Given the description of an element on the screen output the (x, y) to click on. 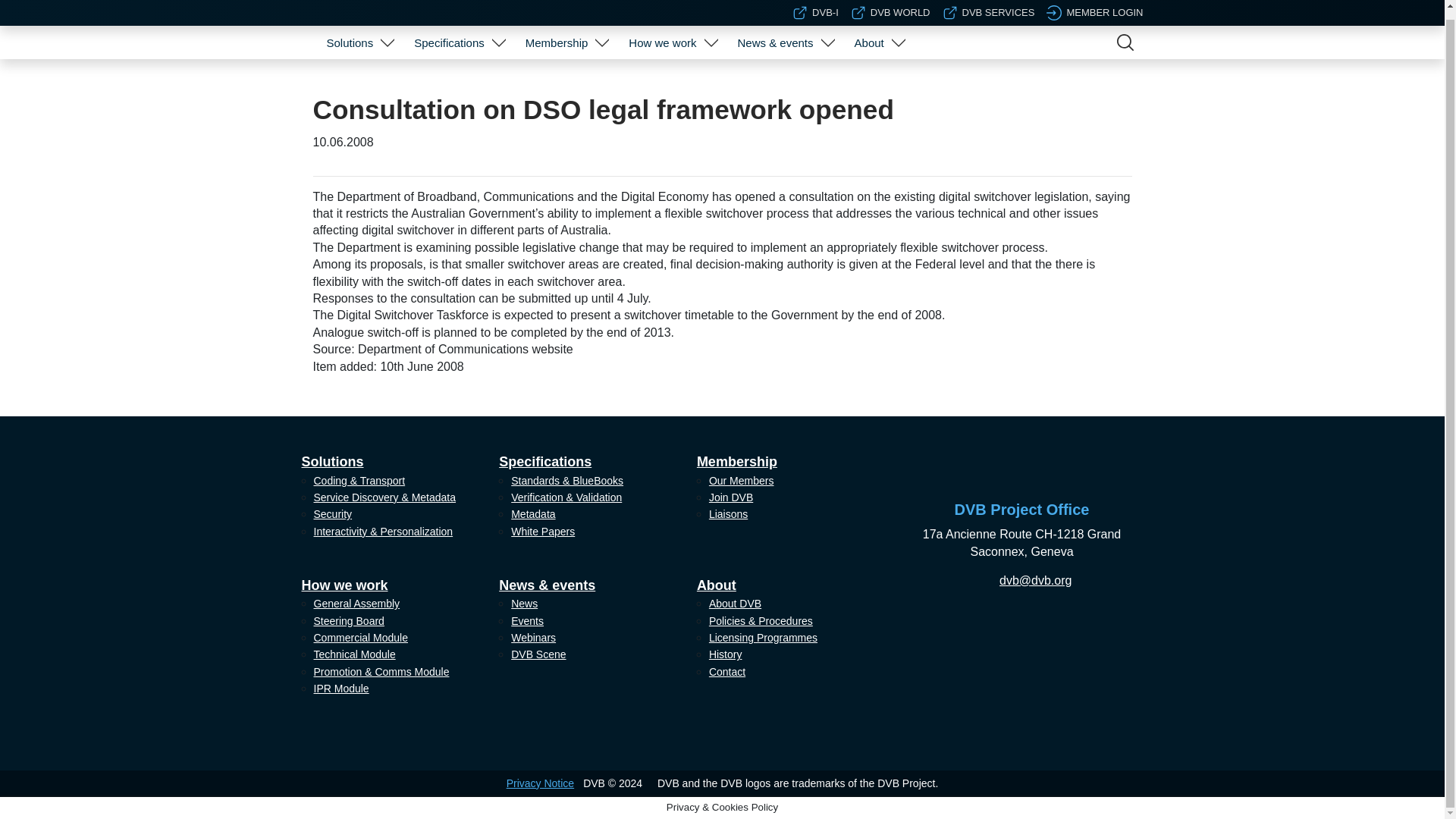
DVB SERVICES (988, 6)
Membership (556, 33)
General Assembly (670, 71)
How we work (662, 33)
About (868, 33)
Our Members (564, 71)
About DVB (877, 71)
Solutions (349, 33)
DVB-I (815, 6)
Specifications (448, 33)
